Given the description of an element on the screen output the (x, y) to click on. 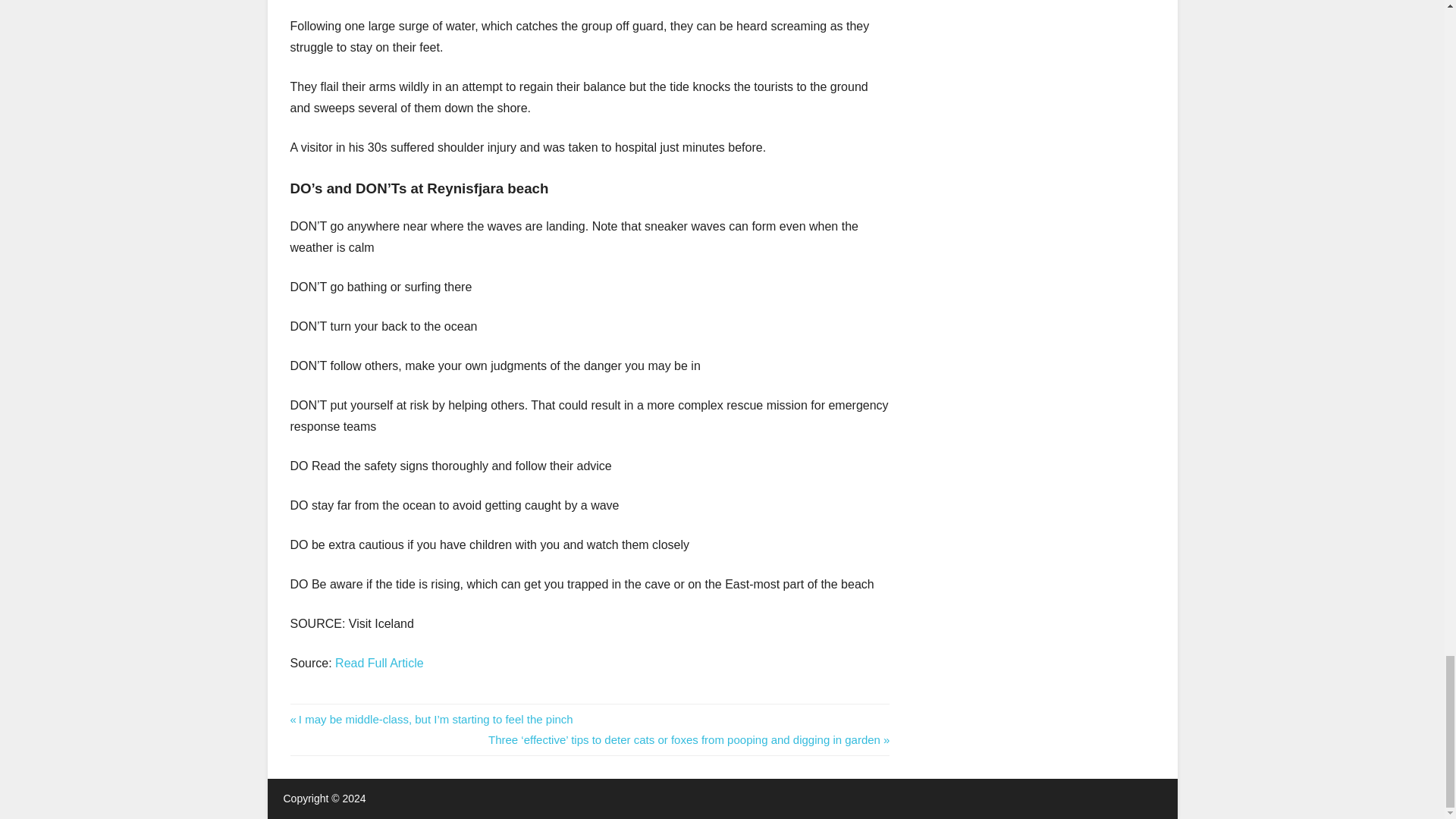
Read Full Article (378, 662)
